Given the description of an element on the screen output the (x, y) to click on. 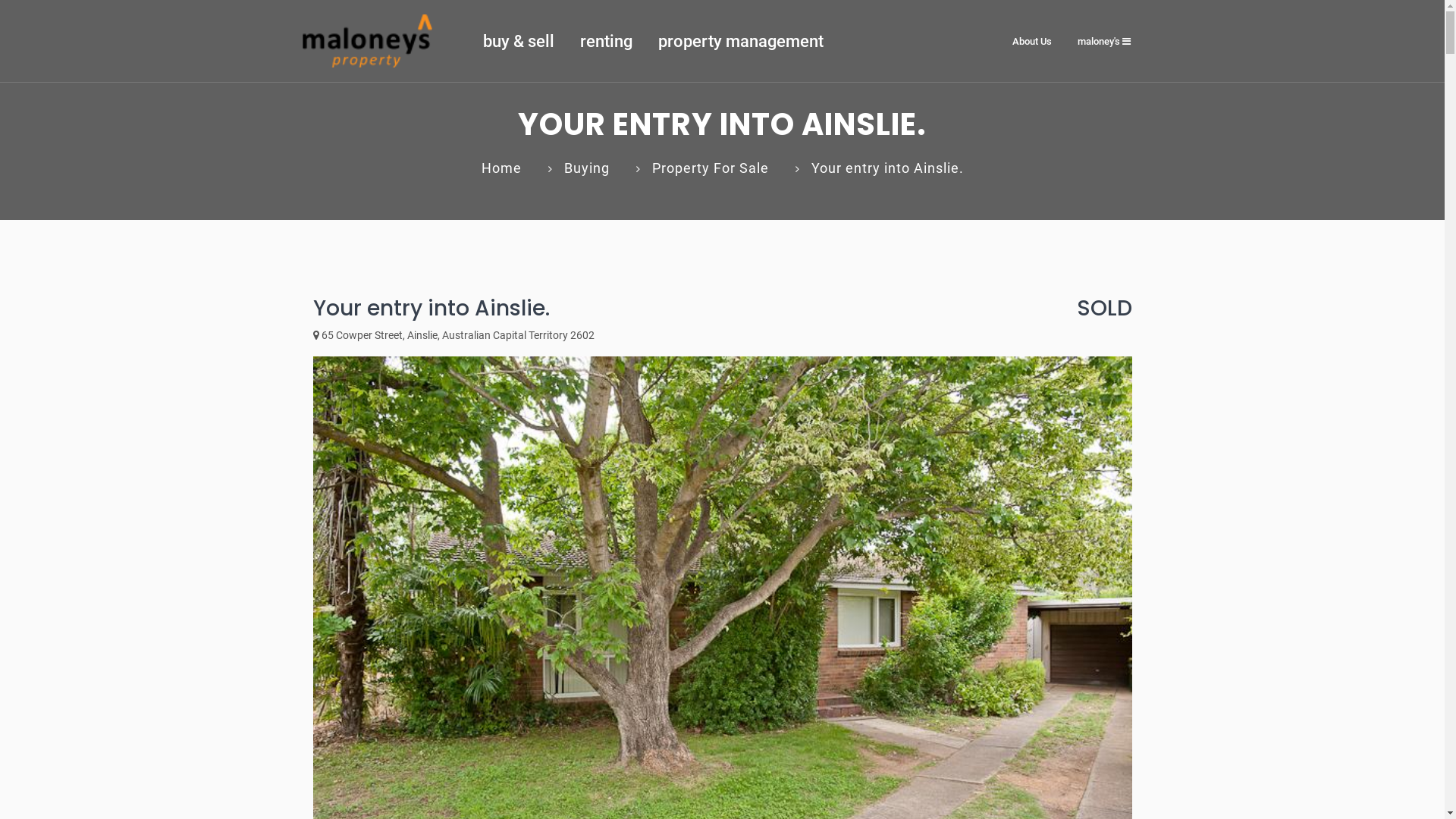
property management Element type: text (739, 41)
Buying Element type: text (586, 167)
buy & sell Element type: text (518, 41)
renting Element type: text (606, 41)
Home Element type: text (500, 167)
maloney's Element type: text (1103, 41)
Property For Sale Element type: text (710, 167)
About Us Element type: text (1031, 41)
